Given the description of an element on the screen output the (x, y) to click on. 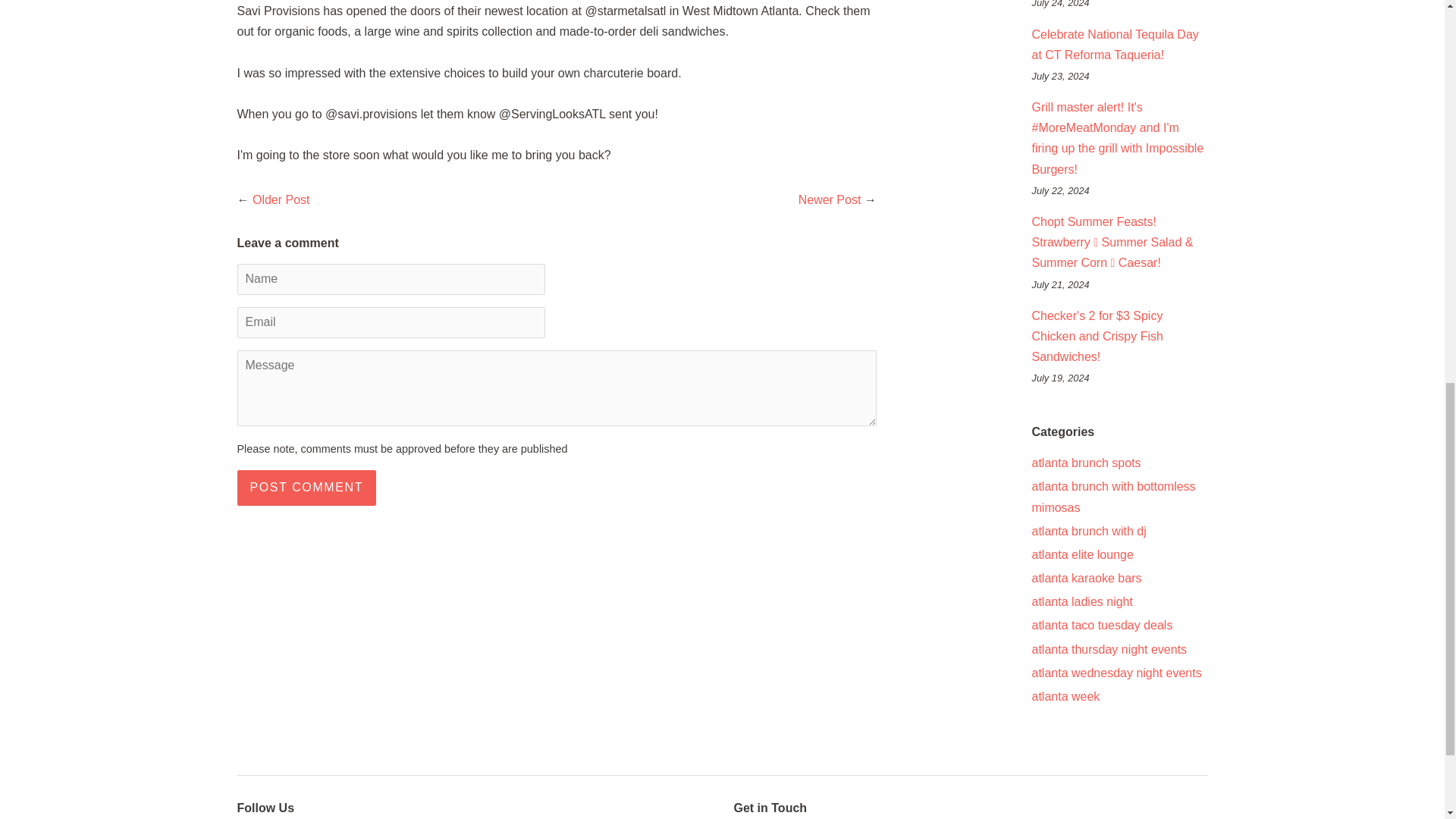
Show articles tagged atlanta brunch spots (1085, 462)
Show articles tagged atlanta brunch with bottomless mimosas (1112, 496)
Newer Post (829, 199)
Show articles tagged atlanta elite lounge (1081, 554)
Show articles tagged atlanta thursday night events (1108, 649)
Show articles tagged atlanta ladies night (1081, 601)
Post comment (305, 488)
Post comment (305, 488)
Show articles tagged atlanta taco tuesday deals (1101, 625)
Show articles tagged atlanta brunch with dj (1087, 530)
Show articles tagged atlanta week (1064, 696)
Celebrate National Tequila Day at CT Reforma Taqueria! (1114, 44)
Show articles tagged atlanta wednesday night events (1115, 672)
Older Post (280, 199)
Show articles tagged atlanta karaoke bars (1085, 577)
